Given the description of an element on the screen output the (x, y) to click on. 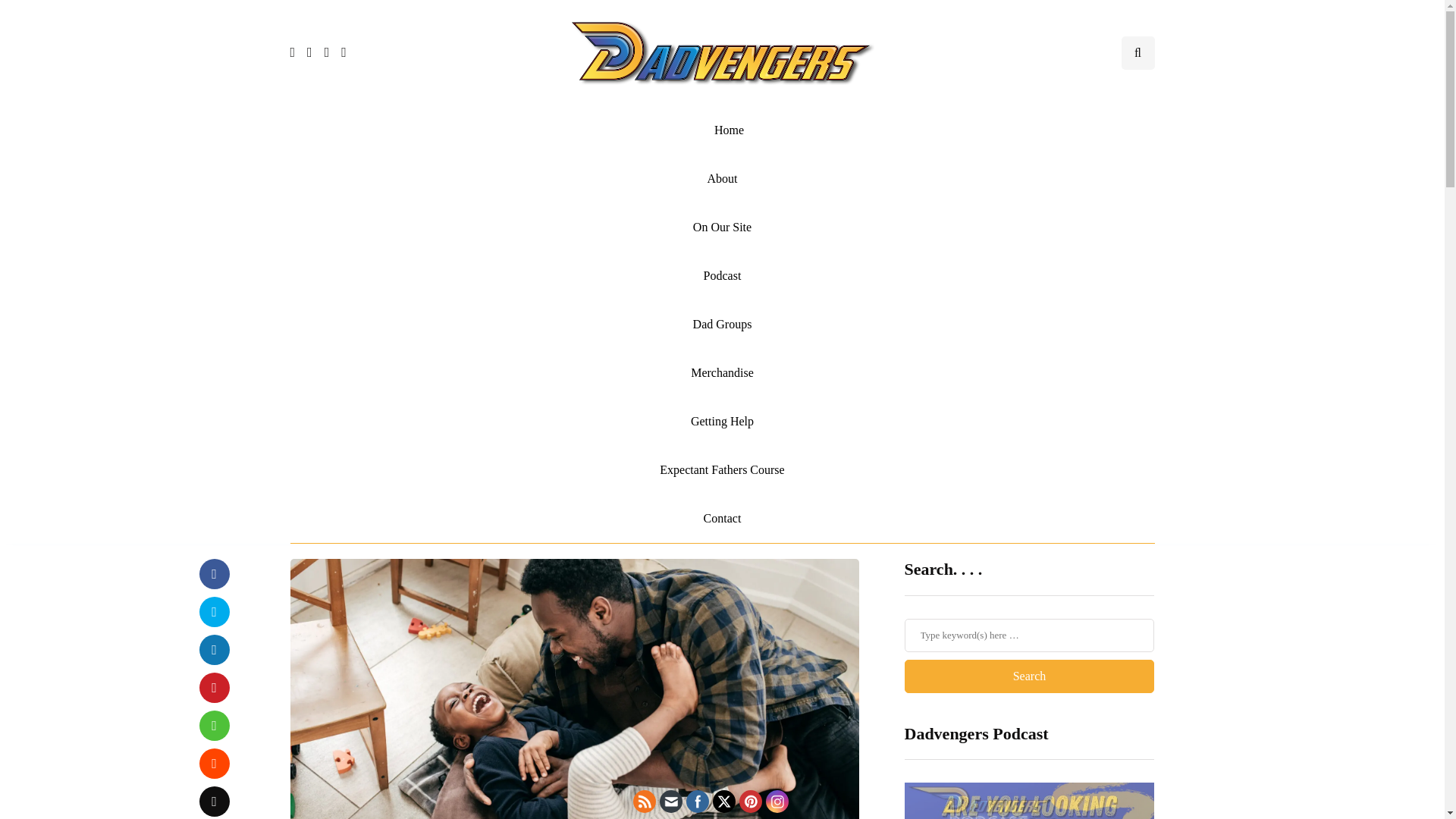
Pin this (213, 687)
Search (1029, 676)
Share on Reddit (213, 763)
About (721, 178)
Share to WhatsApp (213, 725)
Share with Facebook (213, 573)
Share with LinkedIn (213, 649)
Podcast (721, 275)
Home (721, 130)
On Our Site (721, 227)
Tweet this (213, 612)
Share by Email (213, 801)
